Given the description of an element on the screen output the (x, y) to click on. 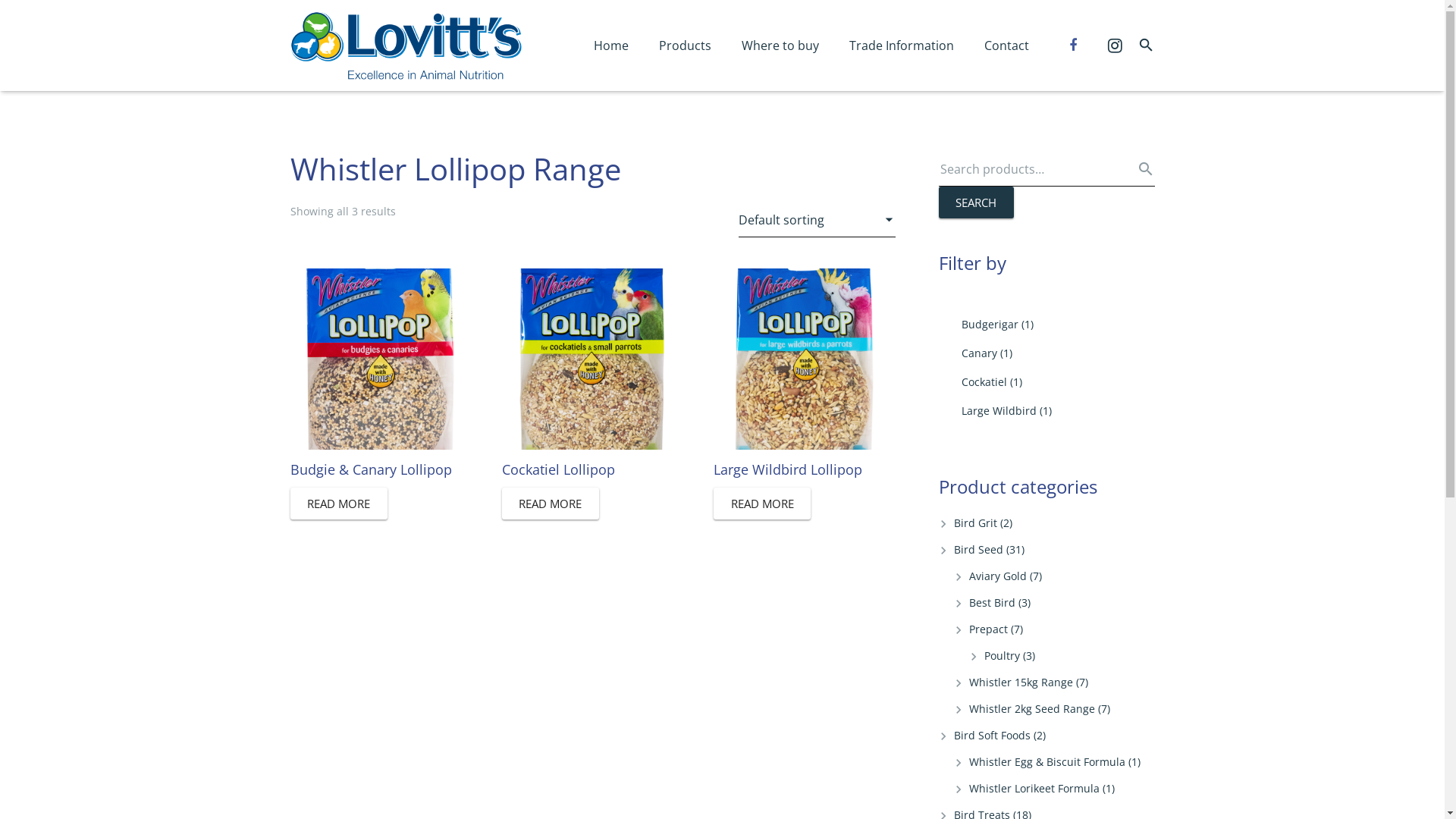
Home Element type: text (610, 45)
Budgerigar Element type: text (989, 323)
Canary Element type: text (979, 352)
Where to buy Element type: text (780, 45)
Products Element type: text (684, 45)
Whistler Lorikeet Formula Element type: text (1034, 788)
Bird Soft Foods Element type: text (991, 735)
Poultry Element type: text (1001, 655)
Contact Element type: text (1006, 45)
Budgie & Canary Lollipop Element type: text (379, 376)
SEARCH Element type: text (975, 202)
Whistler 2kg Seed Range Element type: text (1032, 708)
Bird Seed Element type: text (978, 549)
Trade Information Element type: text (901, 45)
Aviary Gold Element type: text (997, 575)
READ MORE Element type: text (761, 503)
Whistler Egg & Biscuit Formula Element type: text (1047, 761)
Whistler 15kg Range Element type: text (1021, 681)
Best Bird Element type: text (992, 602)
READ MORE Element type: text (337, 503)
Large Wildbird Lollipop Element type: text (803, 376)
Large Wildbird Element type: text (998, 410)
READ MORE Element type: text (550, 503)
Bird Grit Element type: text (975, 522)
Cockatiel Lollipop Element type: text (592, 376)
Prepact Element type: text (988, 628)
Cockatiel Element type: text (984, 381)
